Given the description of an element on the screen output the (x, y) to click on. 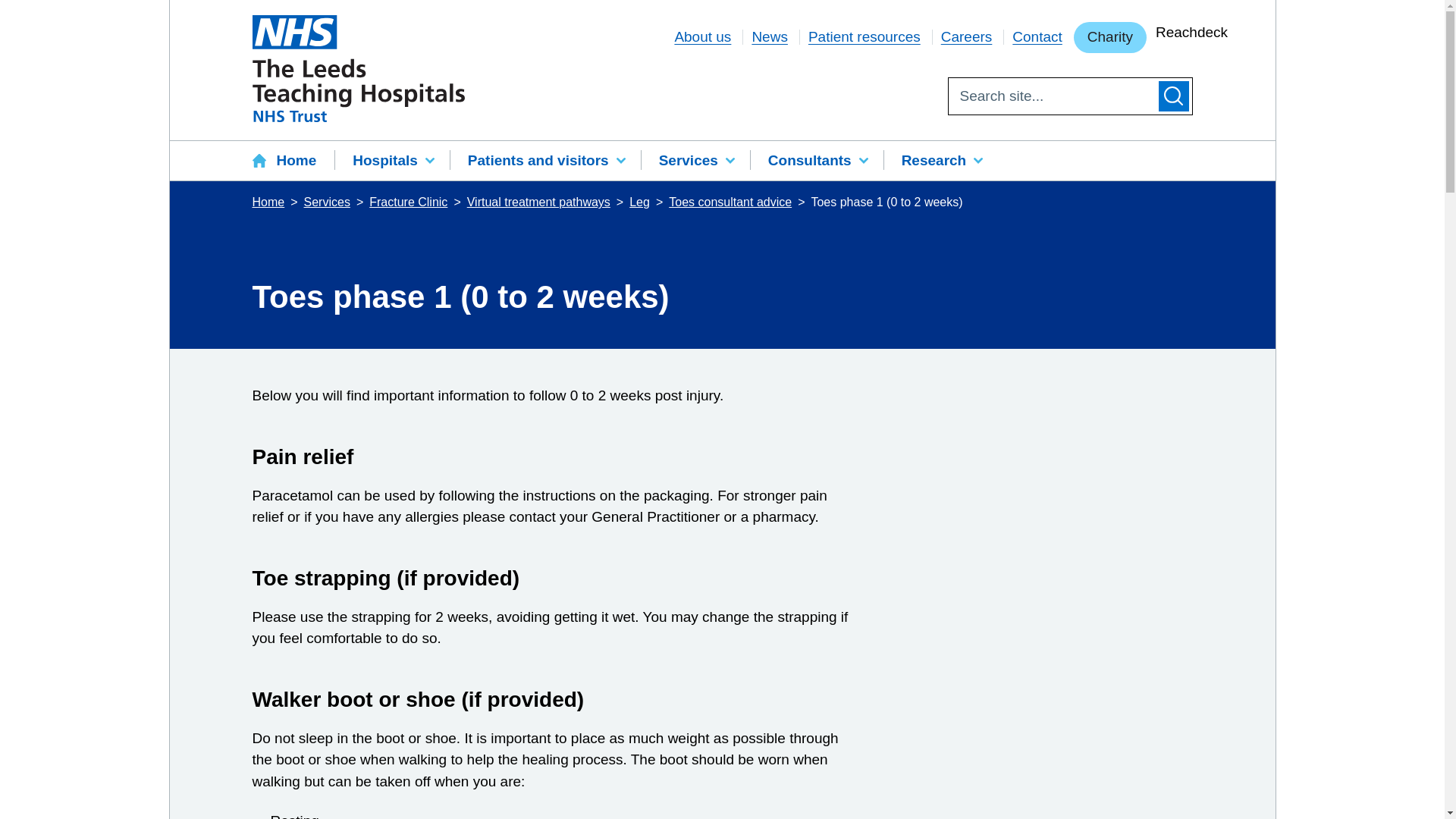
Go to Services. (328, 202)
Contact (1036, 37)
Patients and visitors (544, 160)
About us (702, 37)
Hospitals (391, 160)
Patient resources (864, 37)
Go to Home. (268, 202)
Leeds Teaching Hospitals NHS Trust Homepage (357, 68)
Go to Toes consultant advice. (731, 202)
Go to Virtual treatment pathways. (539, 202)
Go to Fracture Clinic. (409, 202)
Careers (966, 37)
Home (292, 160)
Services (694, 160)
News (769, 37)
